Given the description of an element on the screen output the (x, y) to click on. 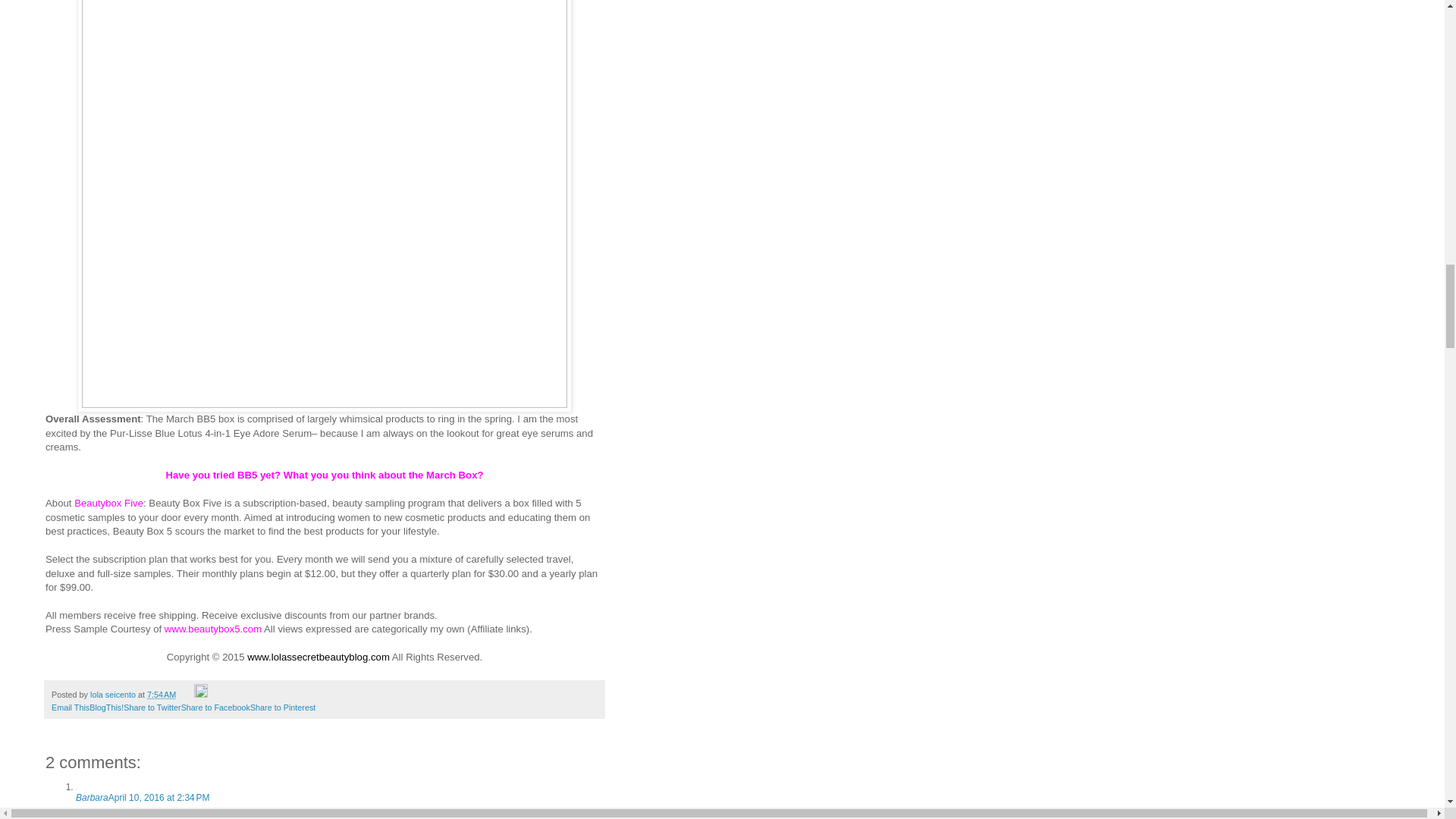
Email This (69, 706)
Share to Facebook (215, 706)
lola seicento (114, 694)
Share to Pinterest (282, 706)
author profile (114, 694)
www.lolassecretbeautyblog.com (318, 656)
Share to Twitter (151, 706)
BlogThis! (105, 706)
Edit Post (200, 694)
Share to Pinterest (282, 706)
Barbara (91, 797)
Share to Facebook (215, 706)
Beautybox Five (108, 502)
